Given the description of an element on the screen output the (x, y) to click on. 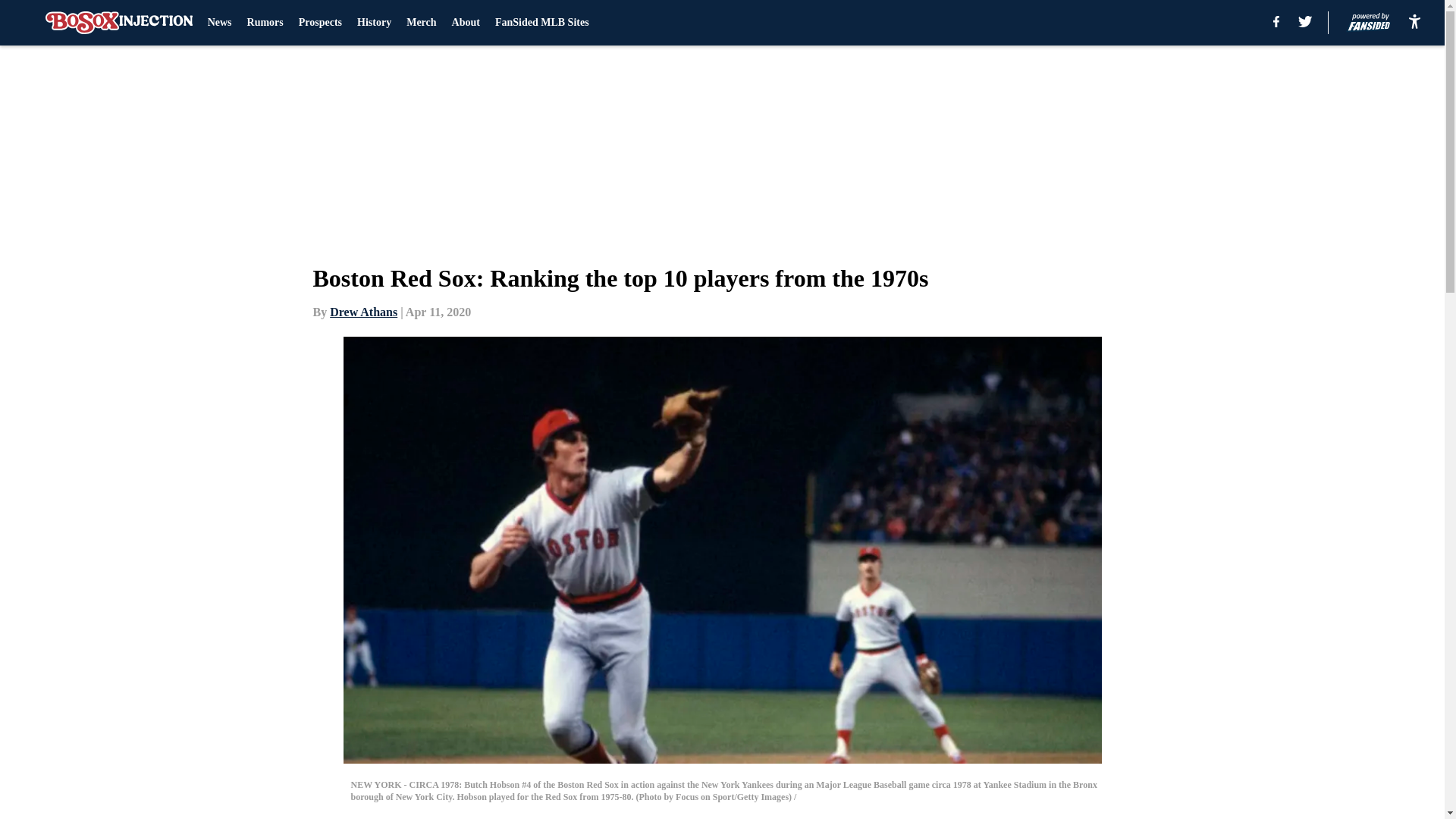
News (219, 22)
FanSided MLB Sites (542, 22)
About (465, 22)
Prospects (320, 22)
Merch (420, 22)
Drew Athans (363, 311)
Rumors (265, 22)
History (373, 22)
